Given the description of an element on the screen output the (x, y) to click on. 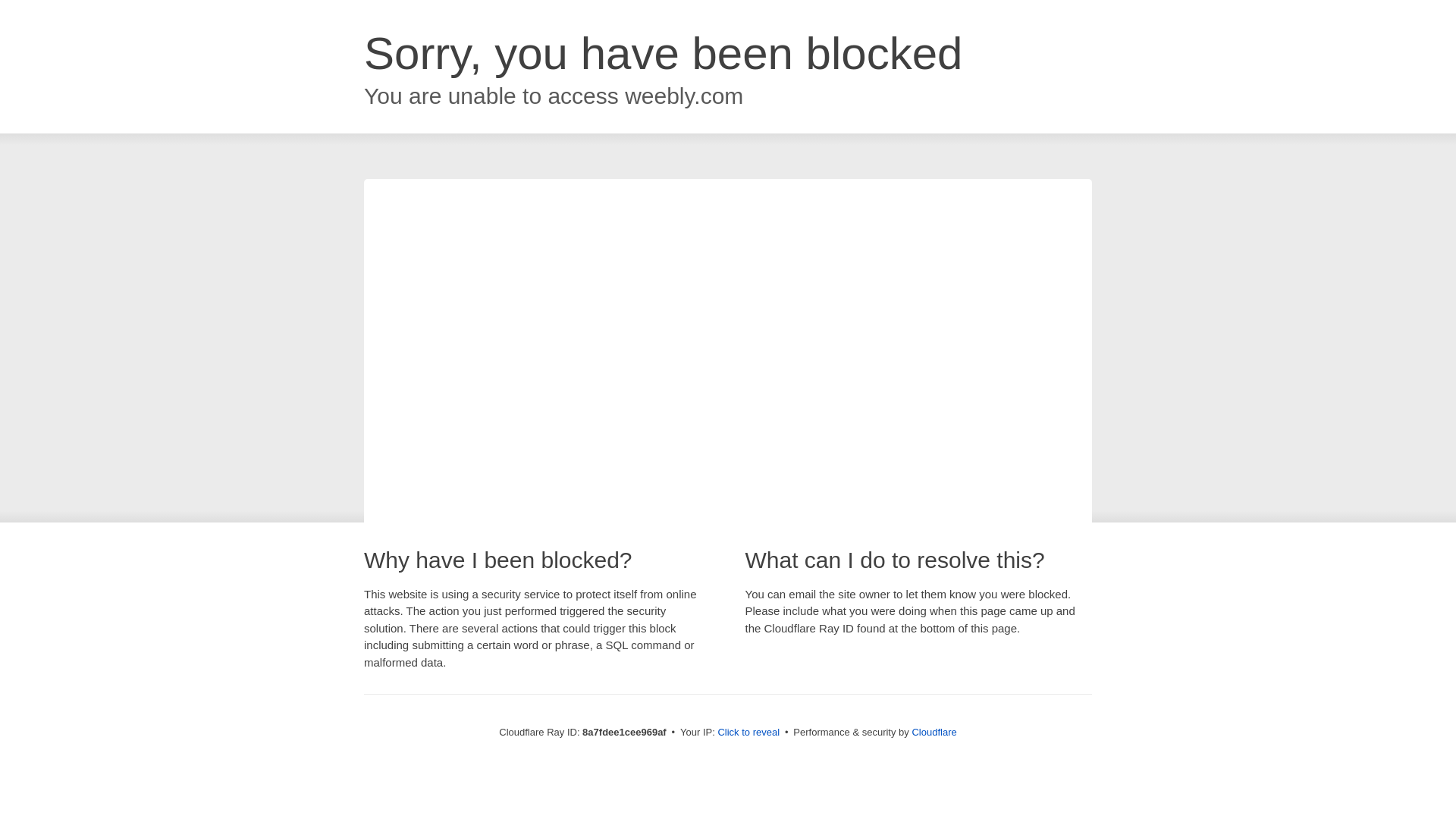
Click to reveal (747, 732)
Cloudflare (933, 731)
